Given the description of an element on the screen output the (x, y) to click on. 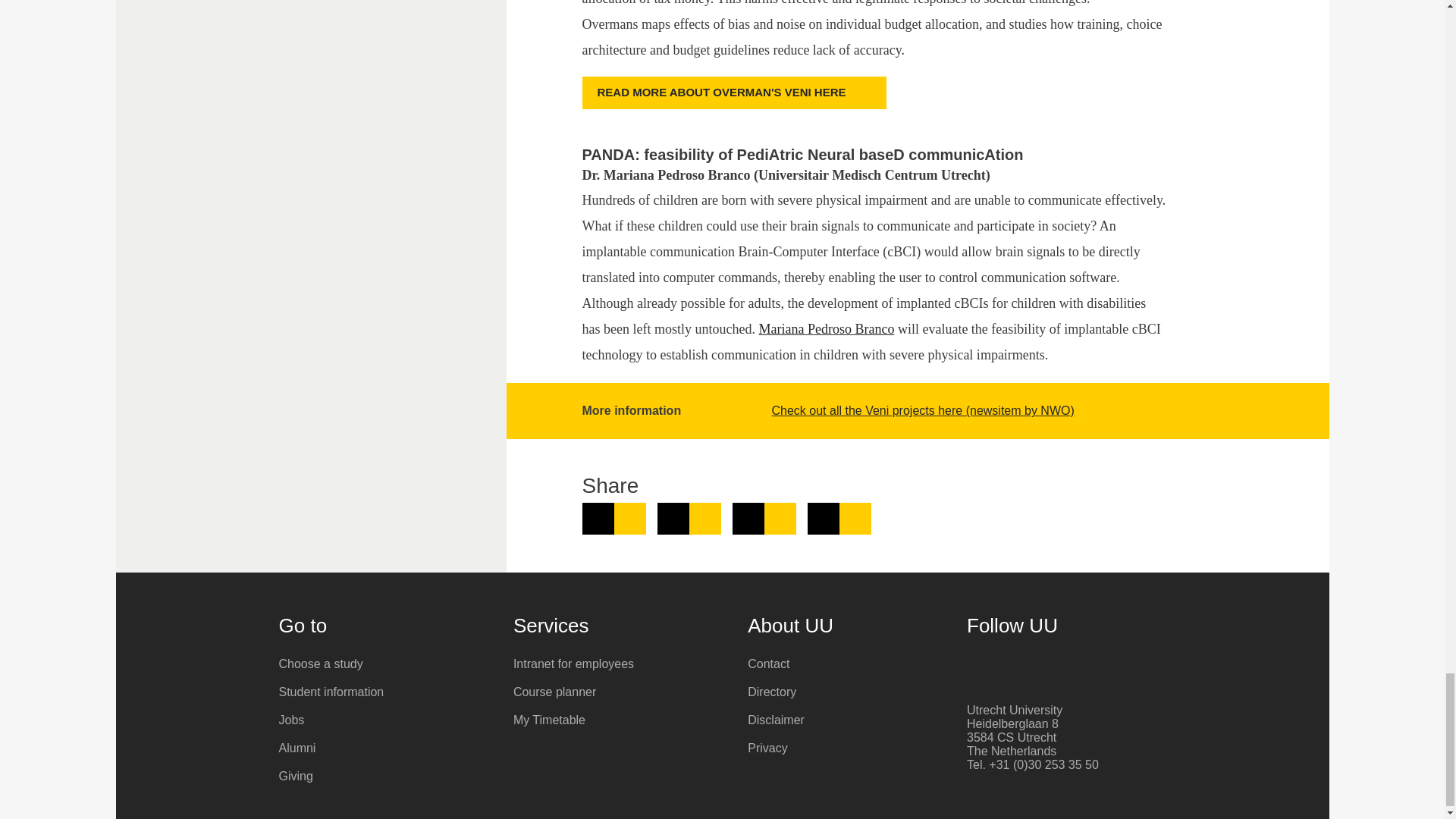
Share on WhatsApp (764, 518)
Share on WhatsApp (764, 518)
Share on Facebook (688, 518)
Choose a study (384, 663)
Share on LinkedIn (614, 518)
Share via email (838, 518)
Share via email (838, 518)
Share on Facebook (688, 518)
Share on LinkedIn (614, 518)
Mariana Pedroso Branco (825, 328)
